Given the description of an element on the screen output the (x, y) to click on. 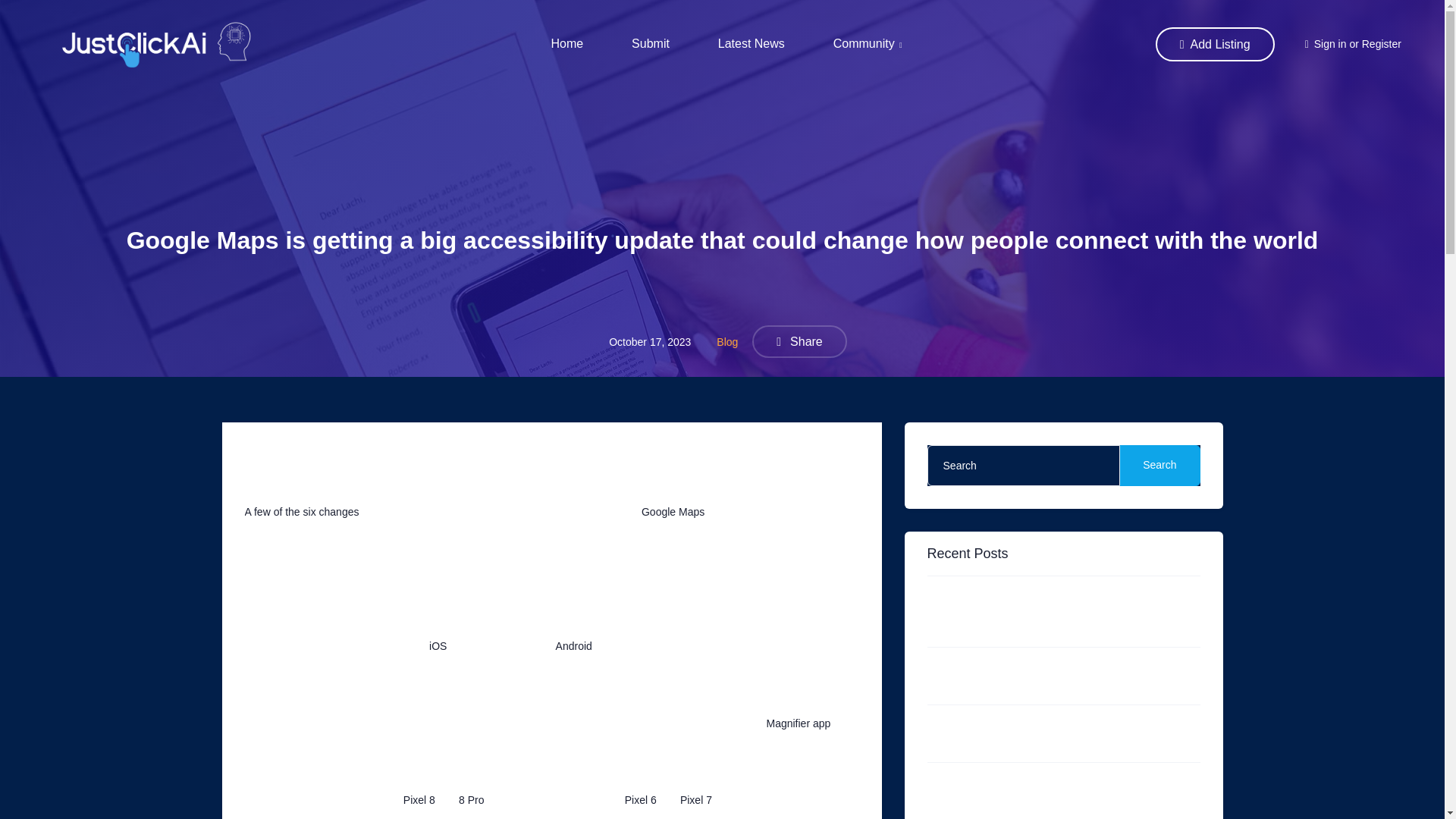
Pixel 8 (419, 799)
Community (867, 43)
A few of the six changes (301, 511)
Register (1380, 43)
Add Listing (1215, 44)
Submit (650, 43)
Blog (727, 341)
Latest News (751, 43)
Pixel 6 (640, 799)
Sign in (1330, 43)
iOS (437, 645)
Android (574, 645)
Magnifier app (797, 723)
8 Pro (470, 799)
Google Maps (673, 511)
